Given the description of an element on the screen output the (x, y) to click on. 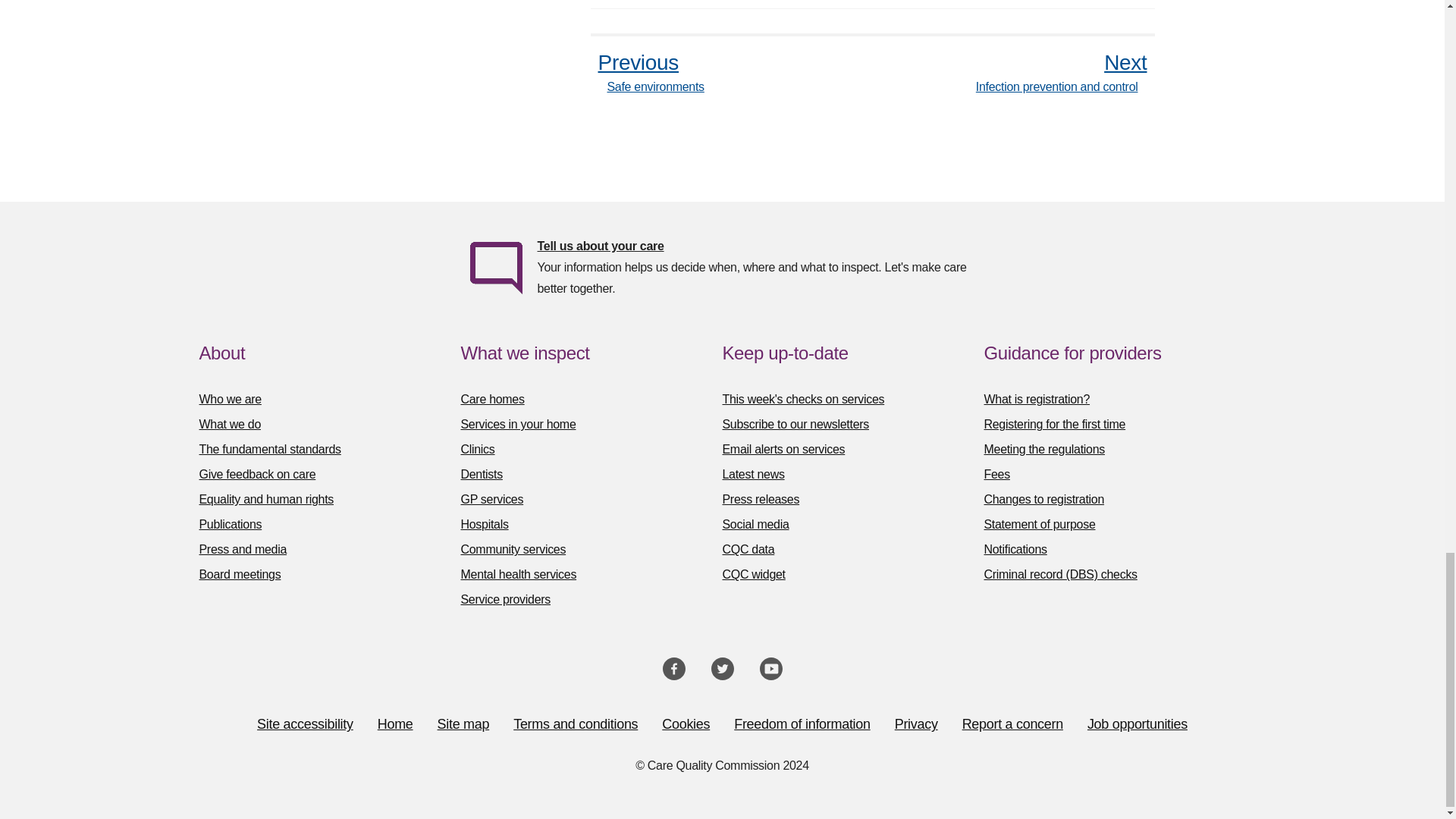
Go to next page (1064, 73)
Go to previous page (646, 73)
